Given the description of an element on the screen output the (x, y) to click on. 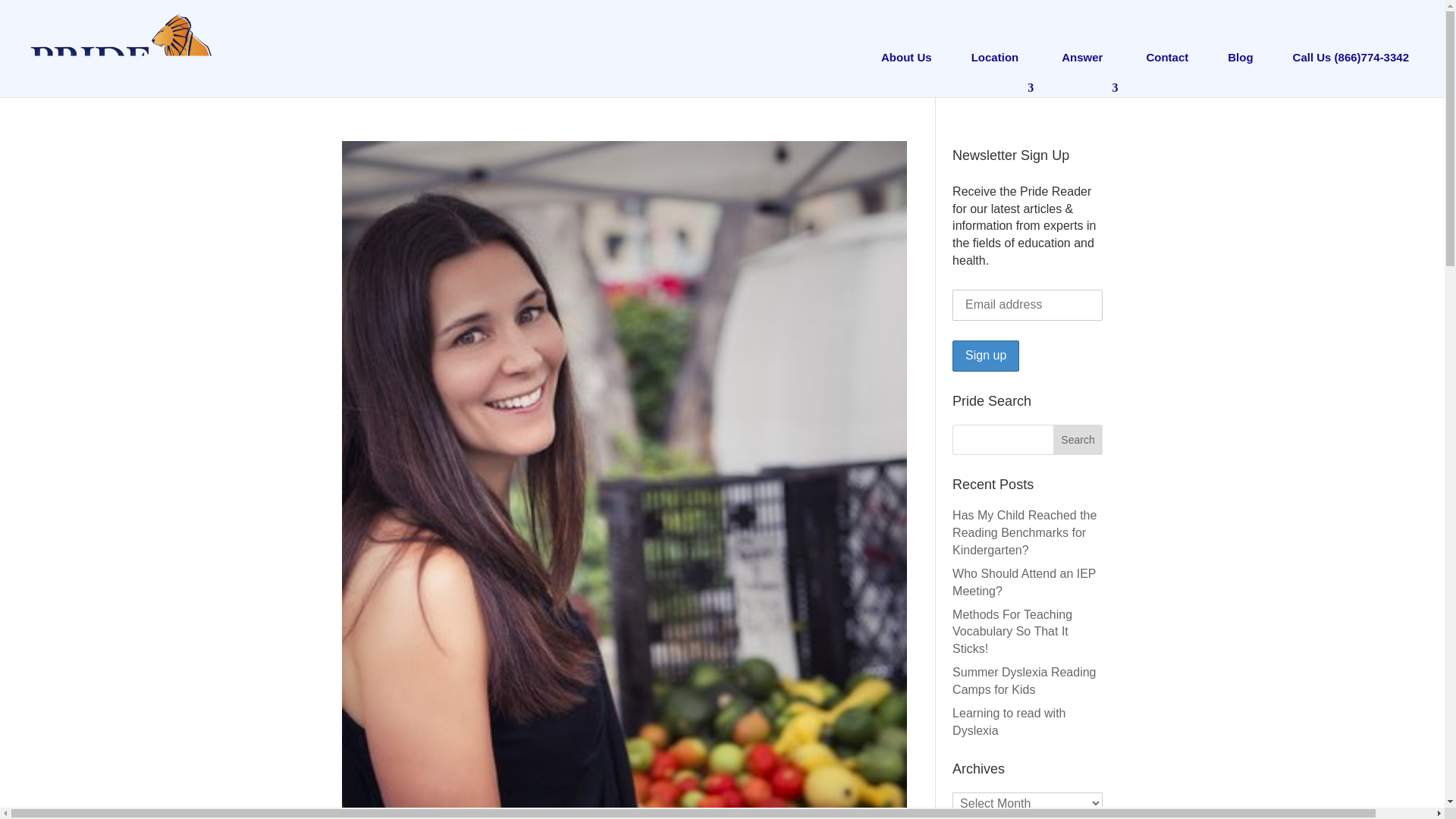
Sign up (985, 355)
Location (996, 65)
Search (1077, 440)
About Us (906, 65)
